Given the description of an element on the screen output the (x, y) to click on. 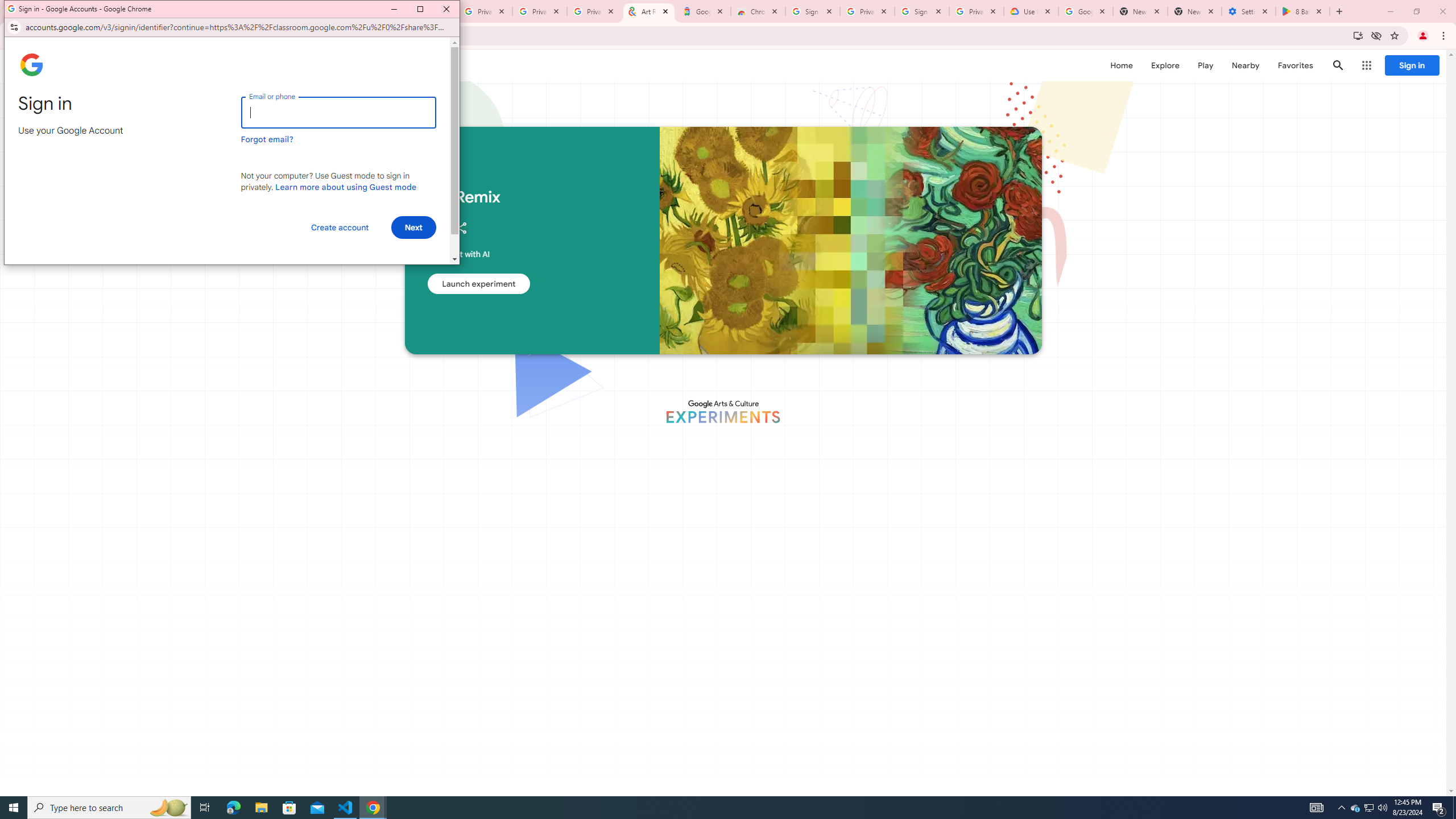
Google Arts & Culture Experiments (722, 411)
Maximize (420, 9)
File Explorer (261, 807)
Settings - System (1249, 11)
Microsoft Store (289, 807)
Install Google Arts & Culture (1358, 35)
